Given the description of an element on the screen output the (x, y) to click on. 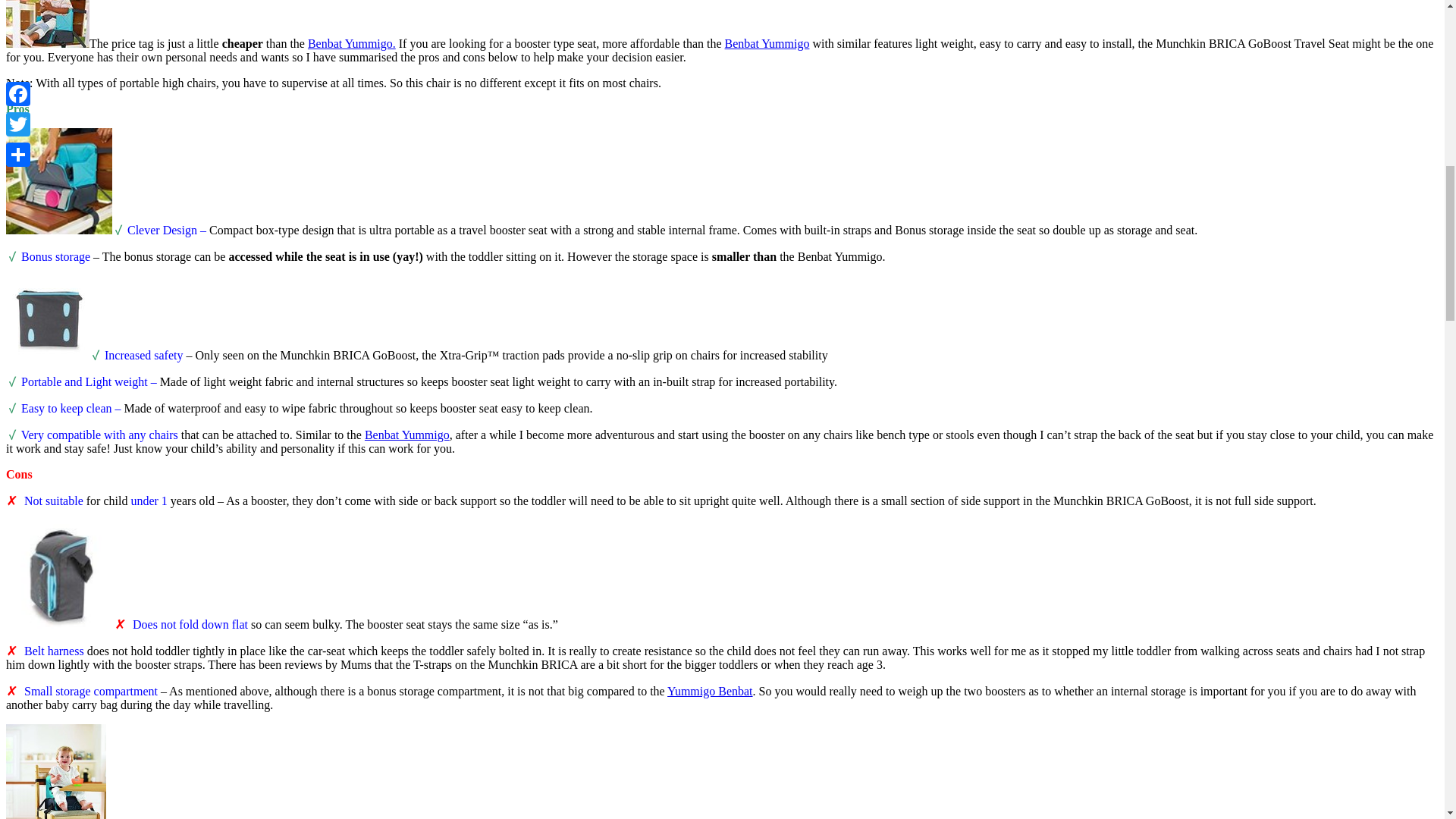
Yummigo Benbat (709, 690)
Benbat Yummigo (407, 434)
Benbat Yummigo. (351, 42)
Benbat Yummigo (767, 42)
